Given the description of an element on the screen output the (x, y) to click on. 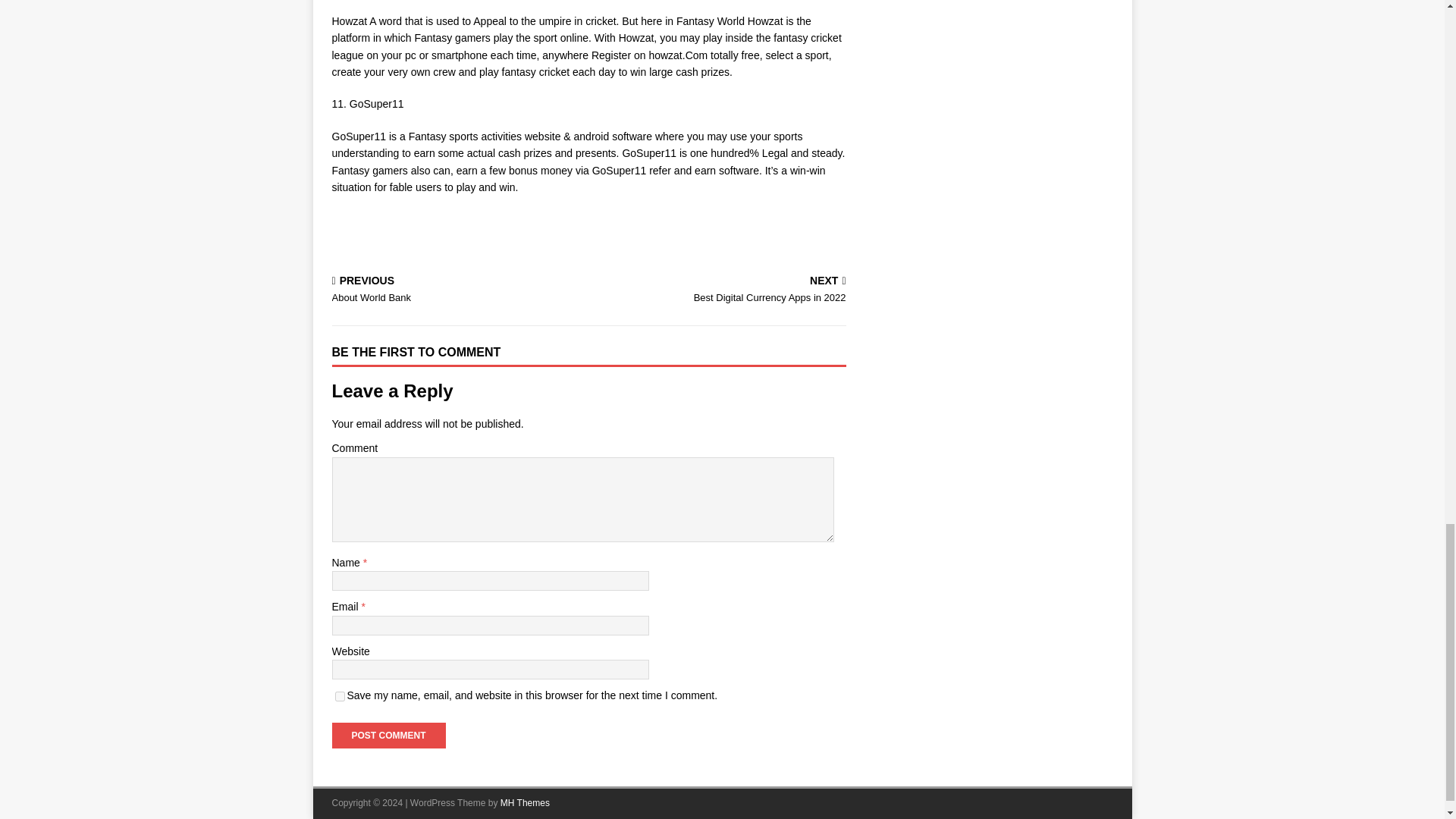
MH Themes (525, 802)
Post Comment (388, 735)
Post Comment (457, 290)
yes (388, 735)
